Given the description of an element on the screen output the (x, y) to click on. 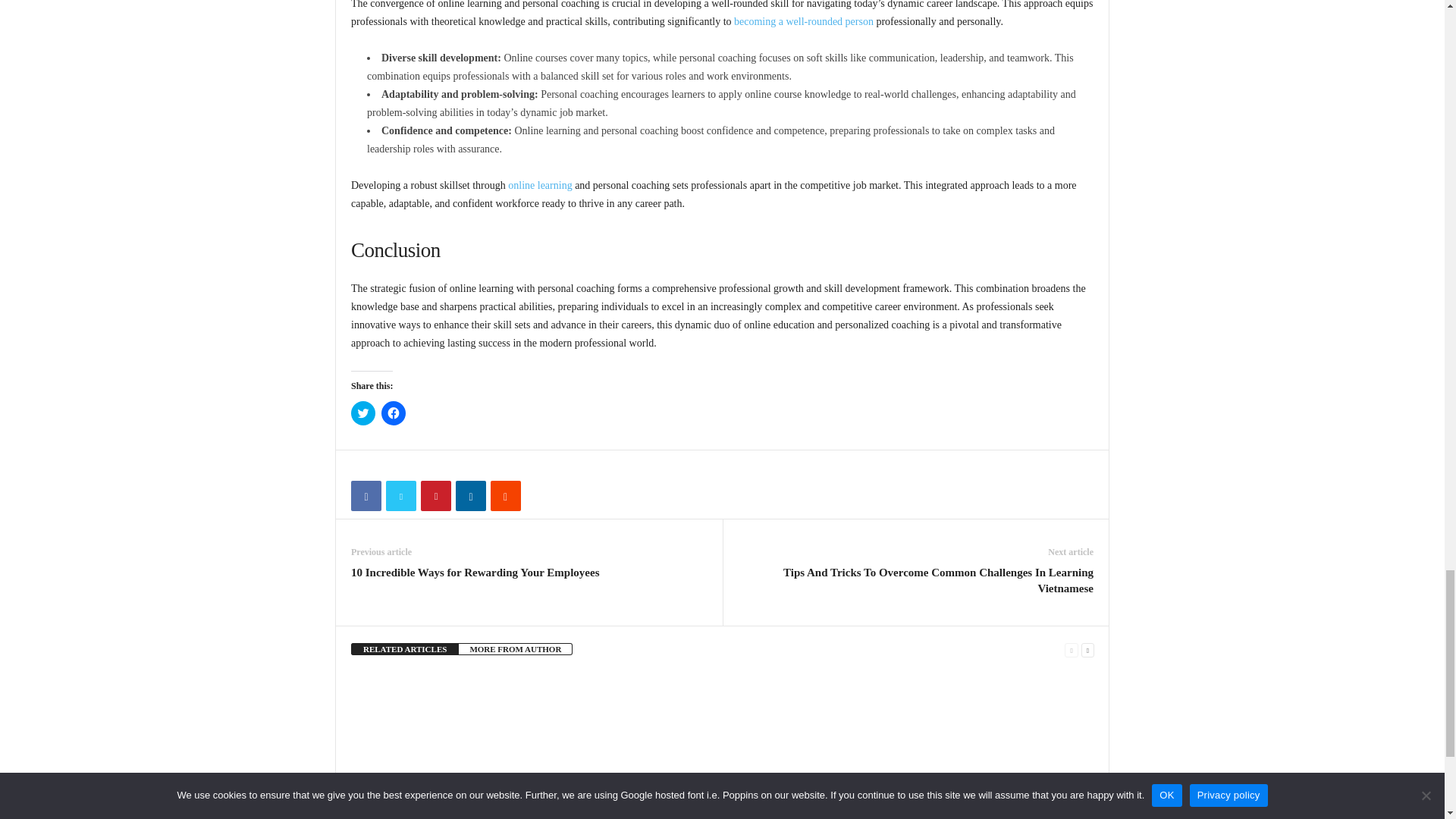
Click to share on Facebook (393, 413)
Tips for Overcoming Homesickness in College (705, 802)
Click to share on Twitter (362, 413)
Web3 vs Web2: The Future of the Internet Explained (874, 728)
How HR Software Can Empower Your Business (570, 728)
Tips for Overcoming Homesickness in College (721, 728)
How HR Software Can Empower Your Business (553, 802)
